Given the description of an element on the screen output the (x, y) to click on. 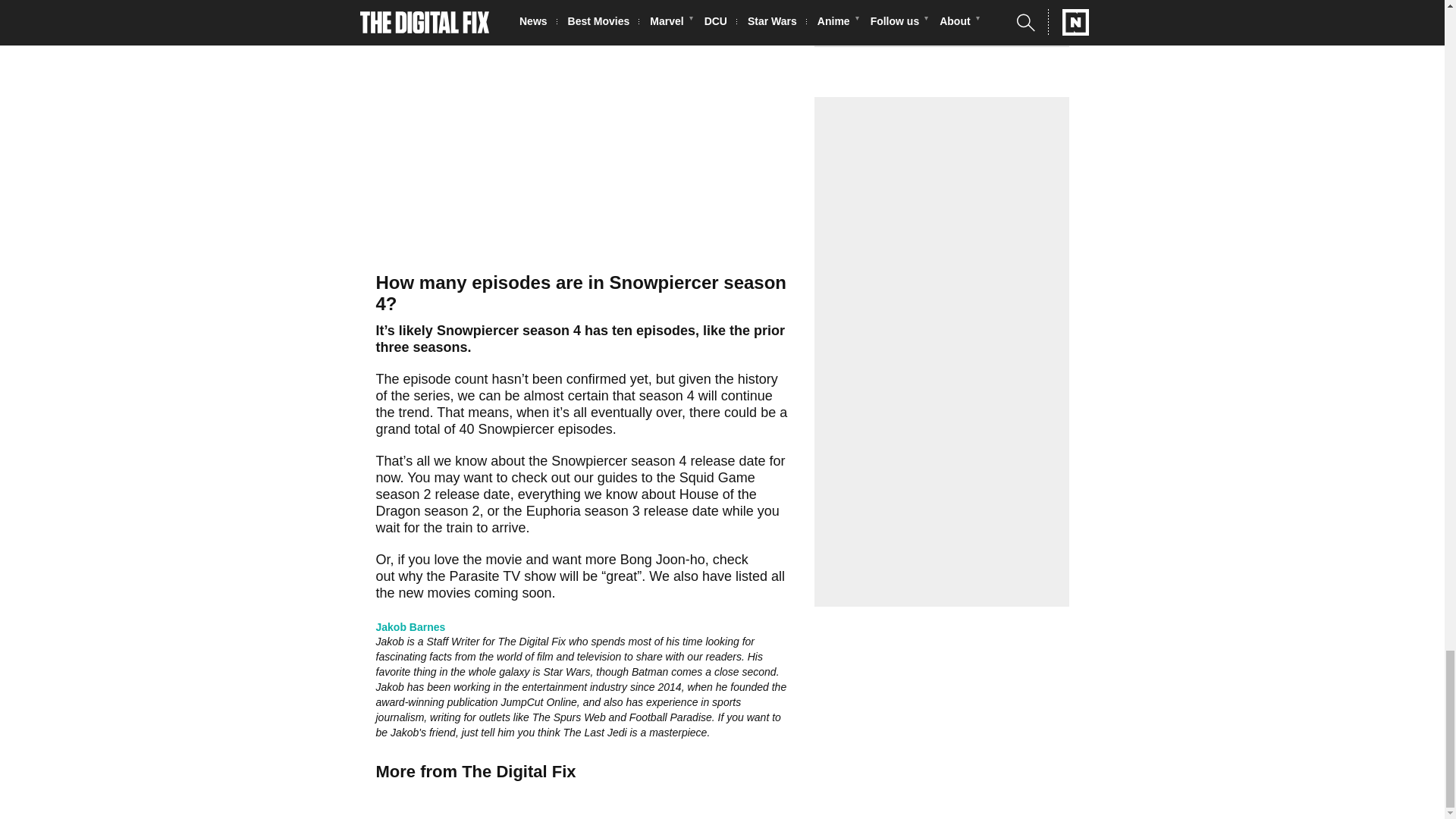
House of the Dragon season 2 (566, 502)
Squid Game season 2 release date (565, 486)
